Given the description of an element on the screen output the (x, y) to click on. 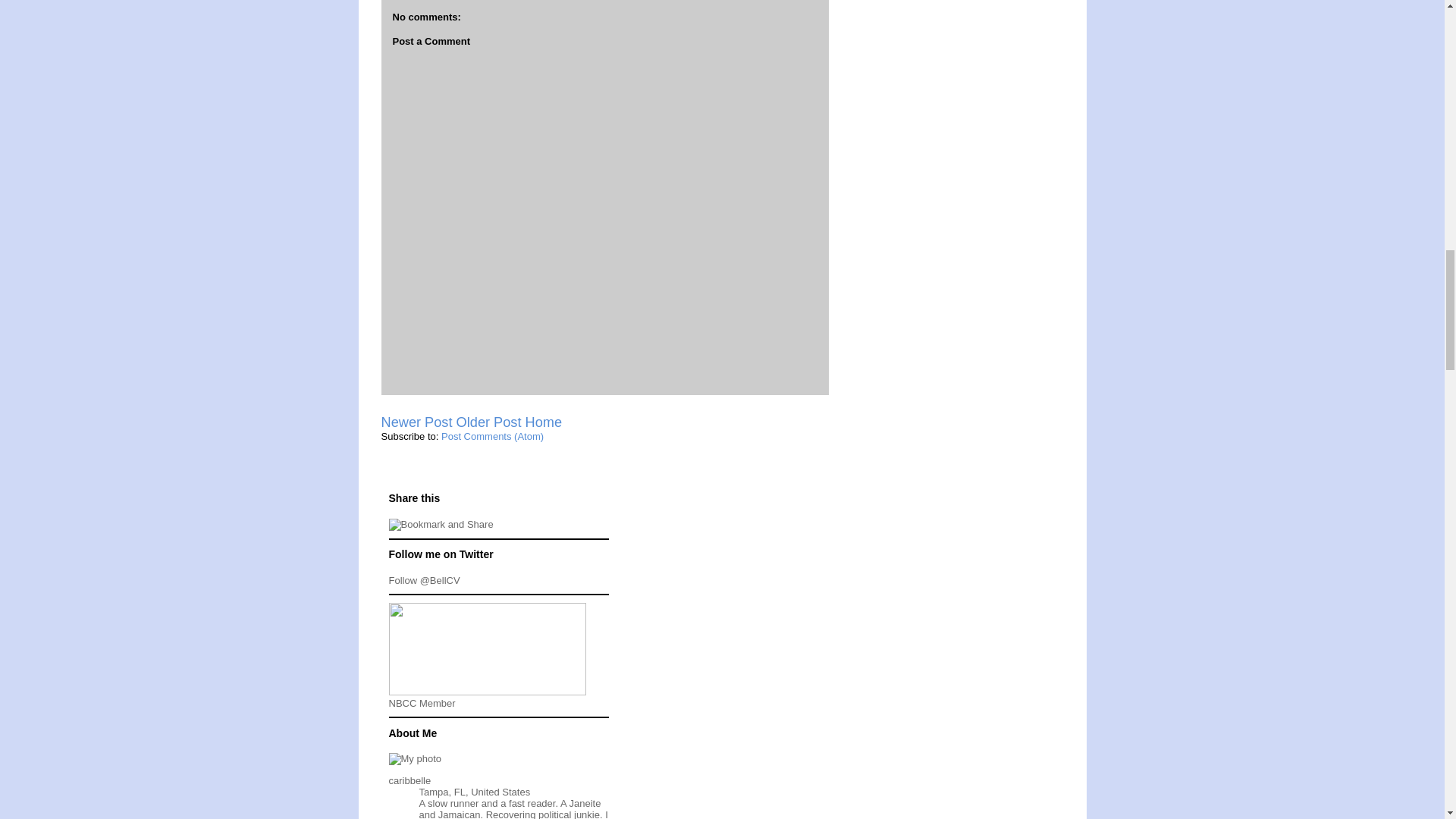
Older Post (489, 421)
caribbelle (409, 780)
Newer Post (415, 421)
Newer Post (415, 421)
Home (543, 421)
Older Post (489, 421)
